Given the description of an element on the screen output the (x, y) to click on. 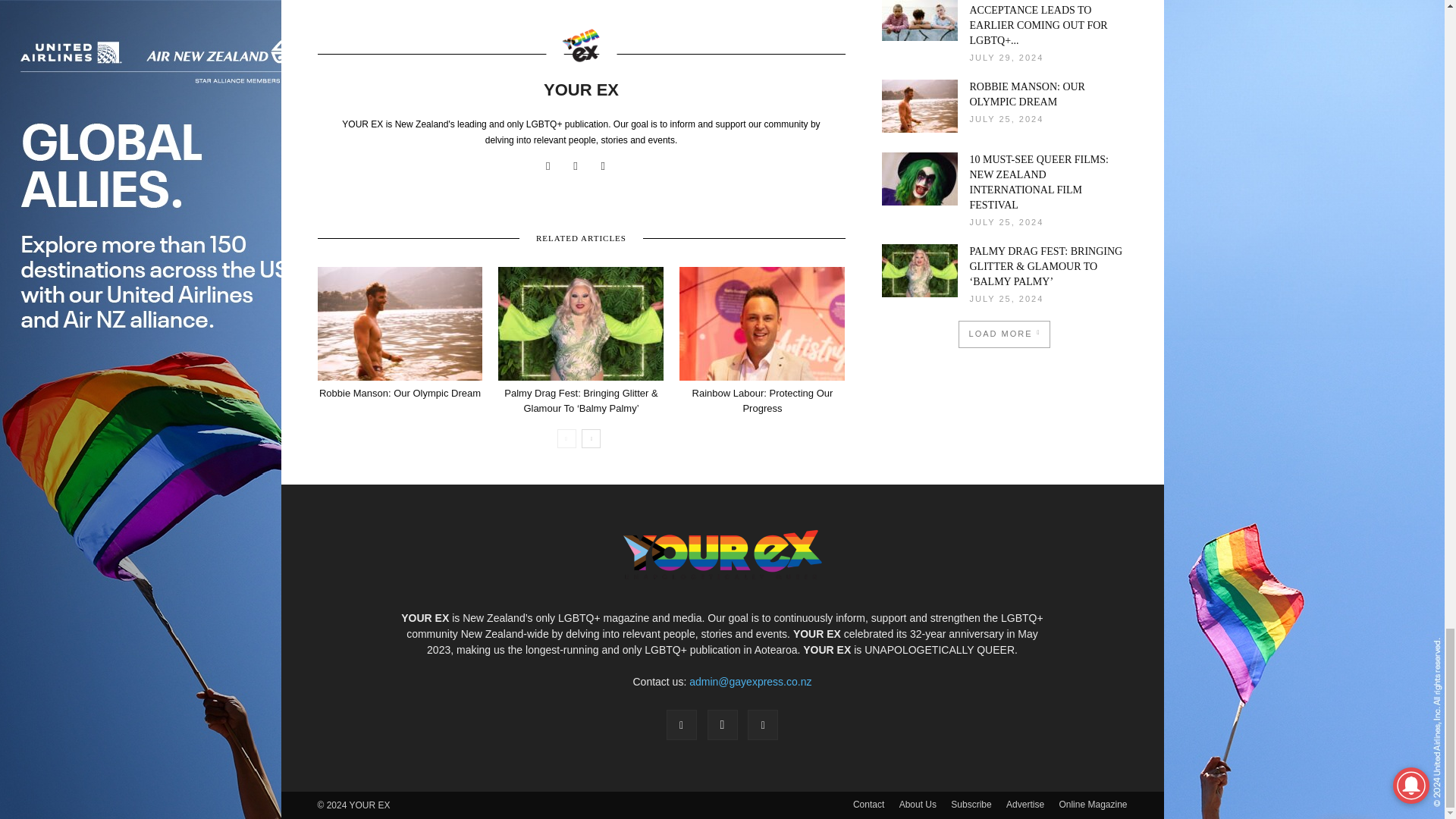
Facebook (553, 166)
Instagram (581, 166)
